Given the description of an element on the screen output the (x, y) to click on. 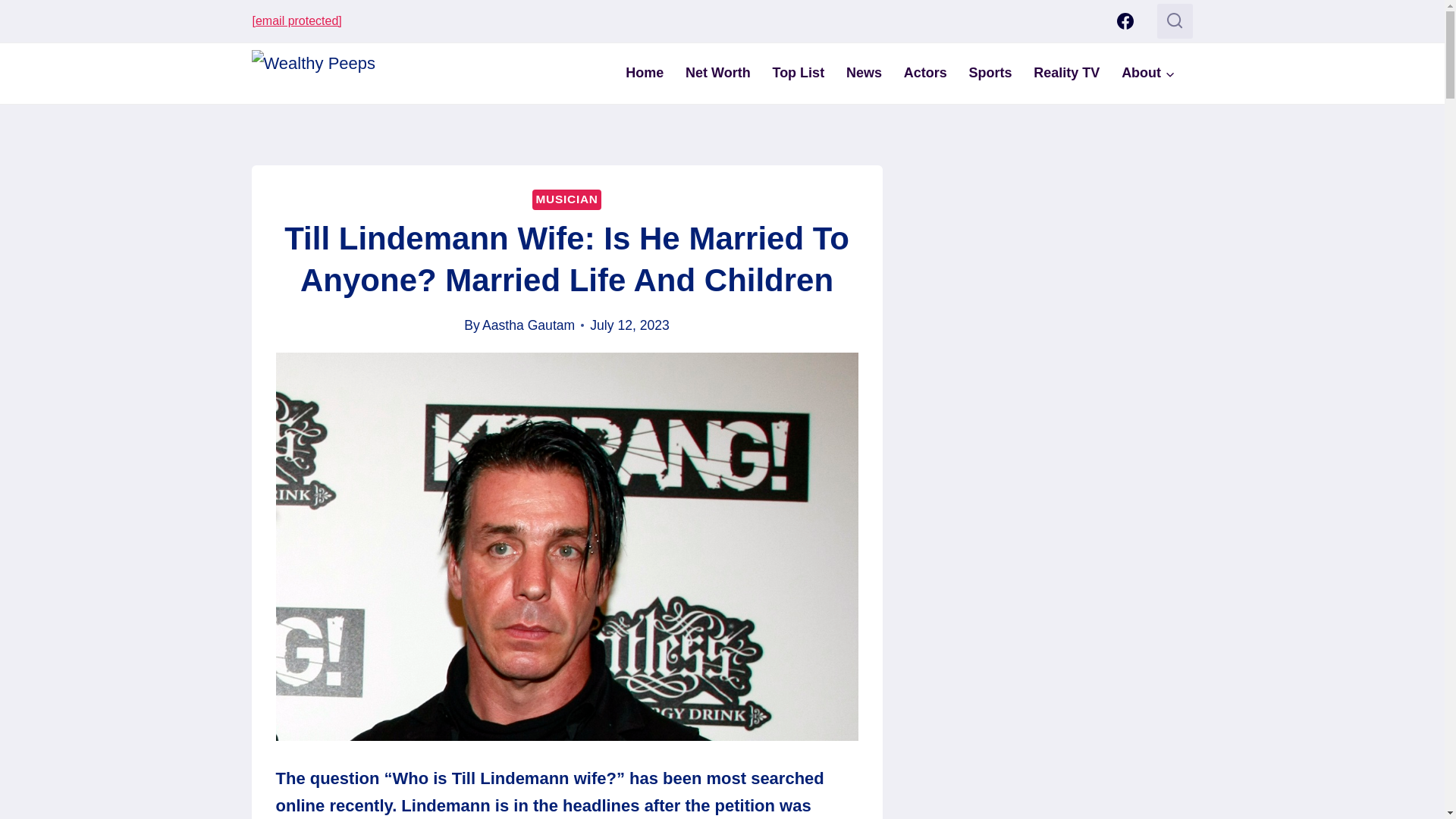
Actors (925, 72)
Reality TV (1066, 72)
Top List (797, 72)
About (1148, 72)
Aastha Gautam (528, 324)
MUSICIAN (565, 199)
News (864, 72)
Net Worth (718, 72)
Sports (990, 72)
Home (644, 72)
